Given the description of an element on the screen output the (x, y) to click on. 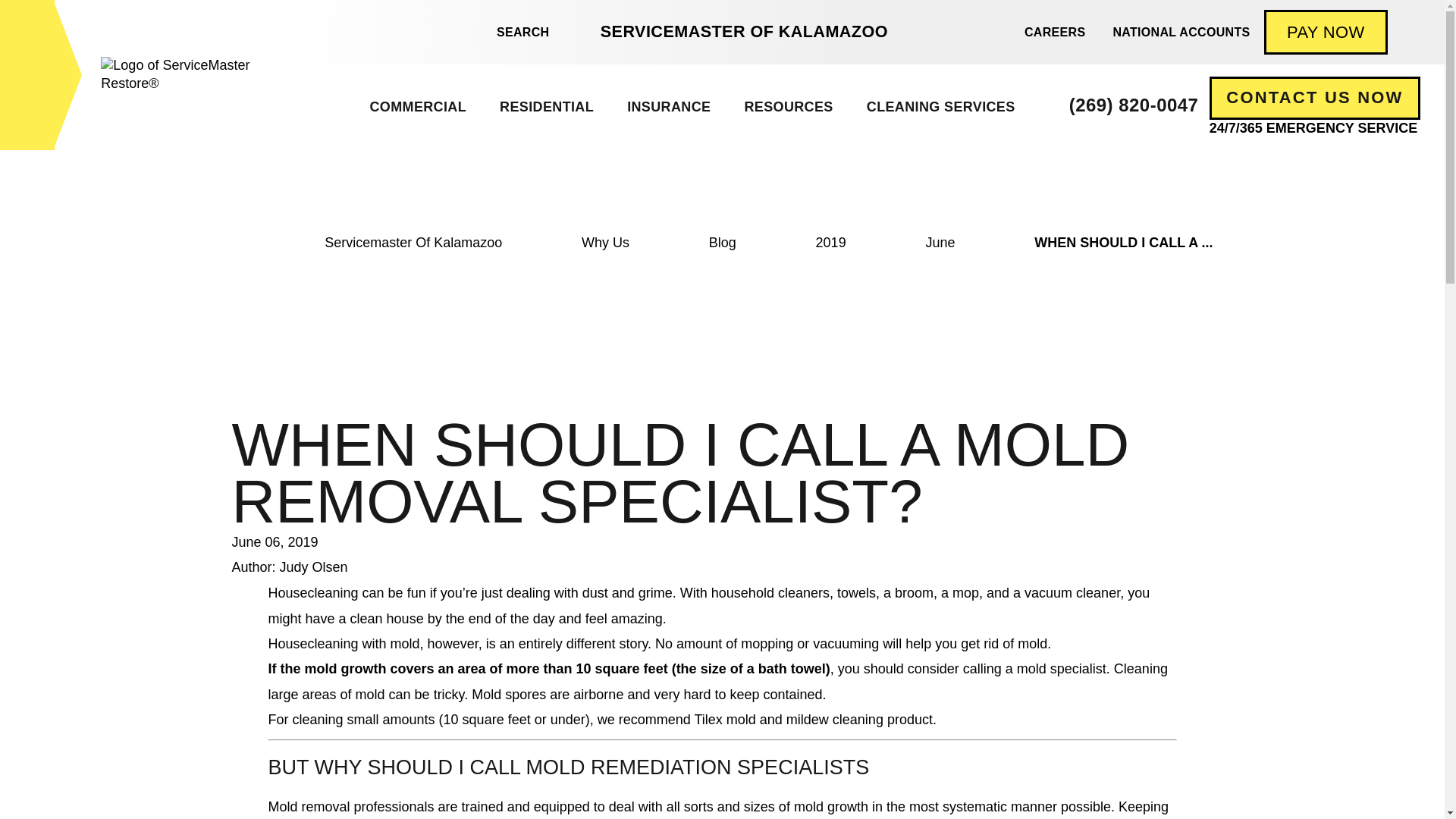
SEARCH (513, 31)
SERVICEMASTER OF KALAMAZOO (743, 32)
PAY NOW (1325, 31)
RESIDENTIAL (545, 106)
CAREERS (1054, 31)
NATIONAL ACCOUNTS (1181, 31)
INSURANCE (668, 106)
COMMERCIAL (417, 106)
